Given the description of an element on the screen output the (x, y) to click on. 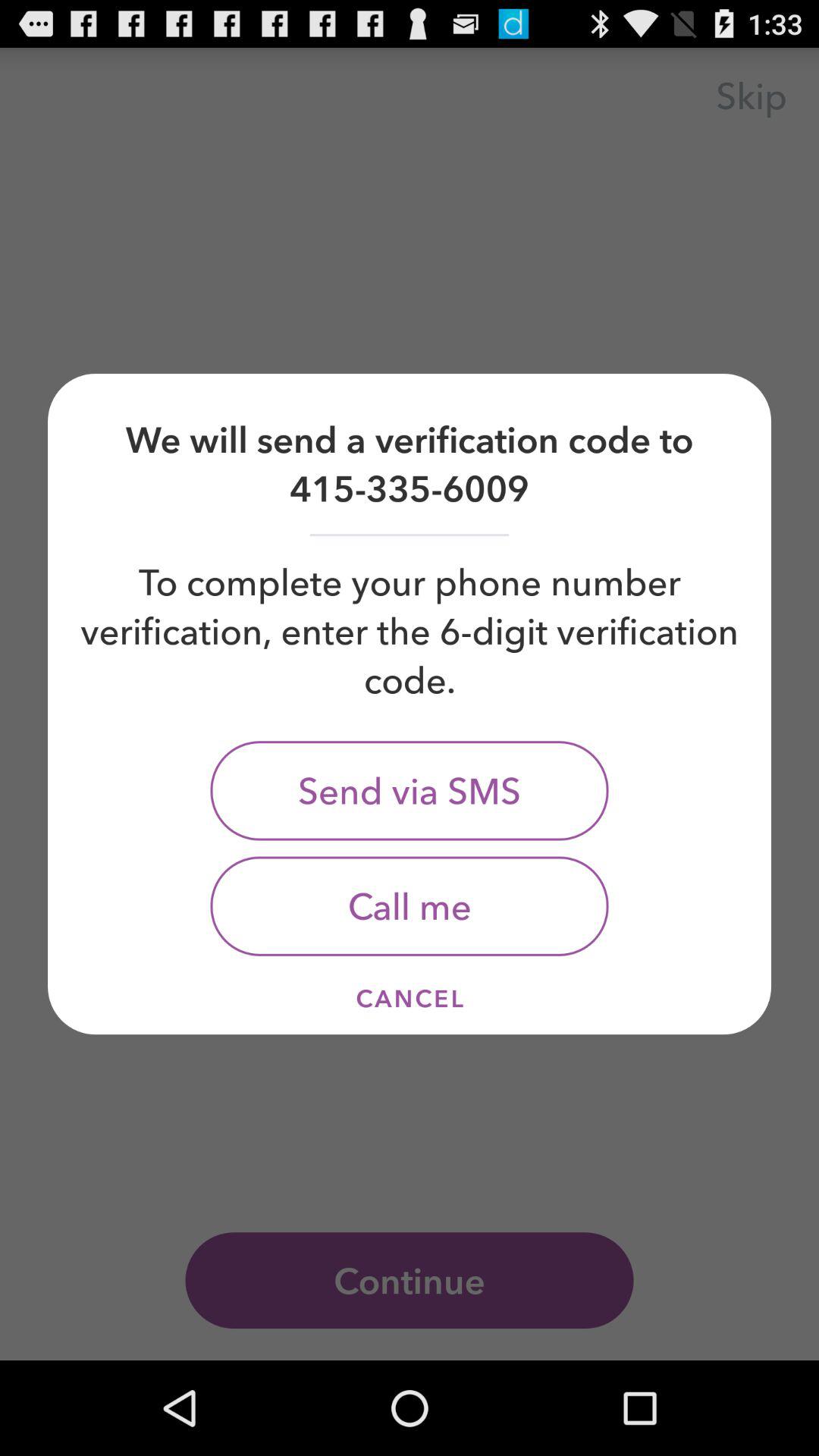
turn off the item above call me icon (409, 790)
